Given the description of an element on the screen output the (x, y) to click on. 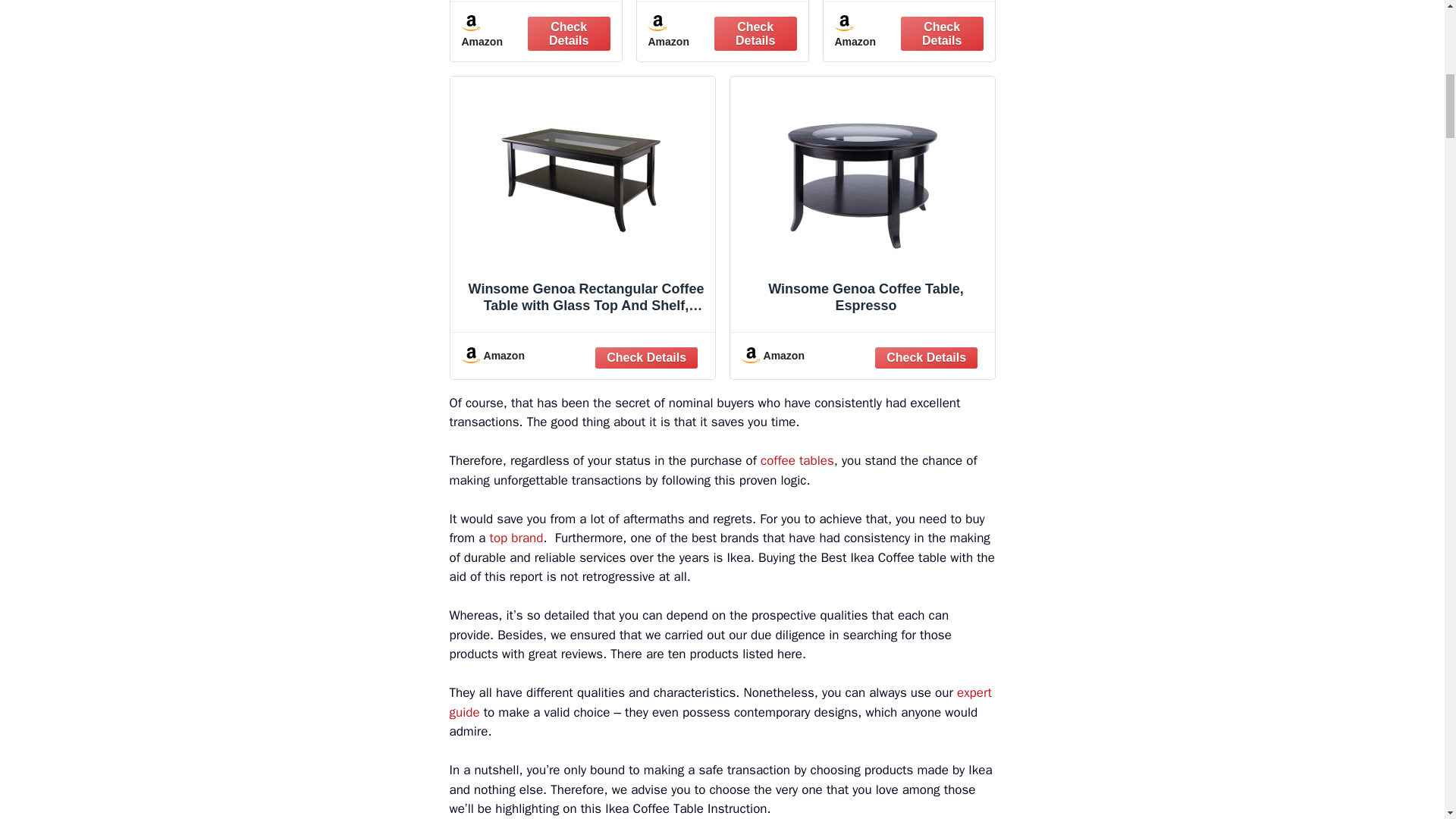
top brand (516, 537)
Amazon (535, 31)
Amazon (582, 355)
Scroll back to top (1406, 720)
Winsome Genoa Coffee Table, Espresso (861, 207)
Amazon (721, 31)
Amazon (862, 355)
Amazon (908, 31)
expert guide (719, 702)
coffee tables (797, 460)
